Given the description of an element on the screen output the (x, y) to click on. 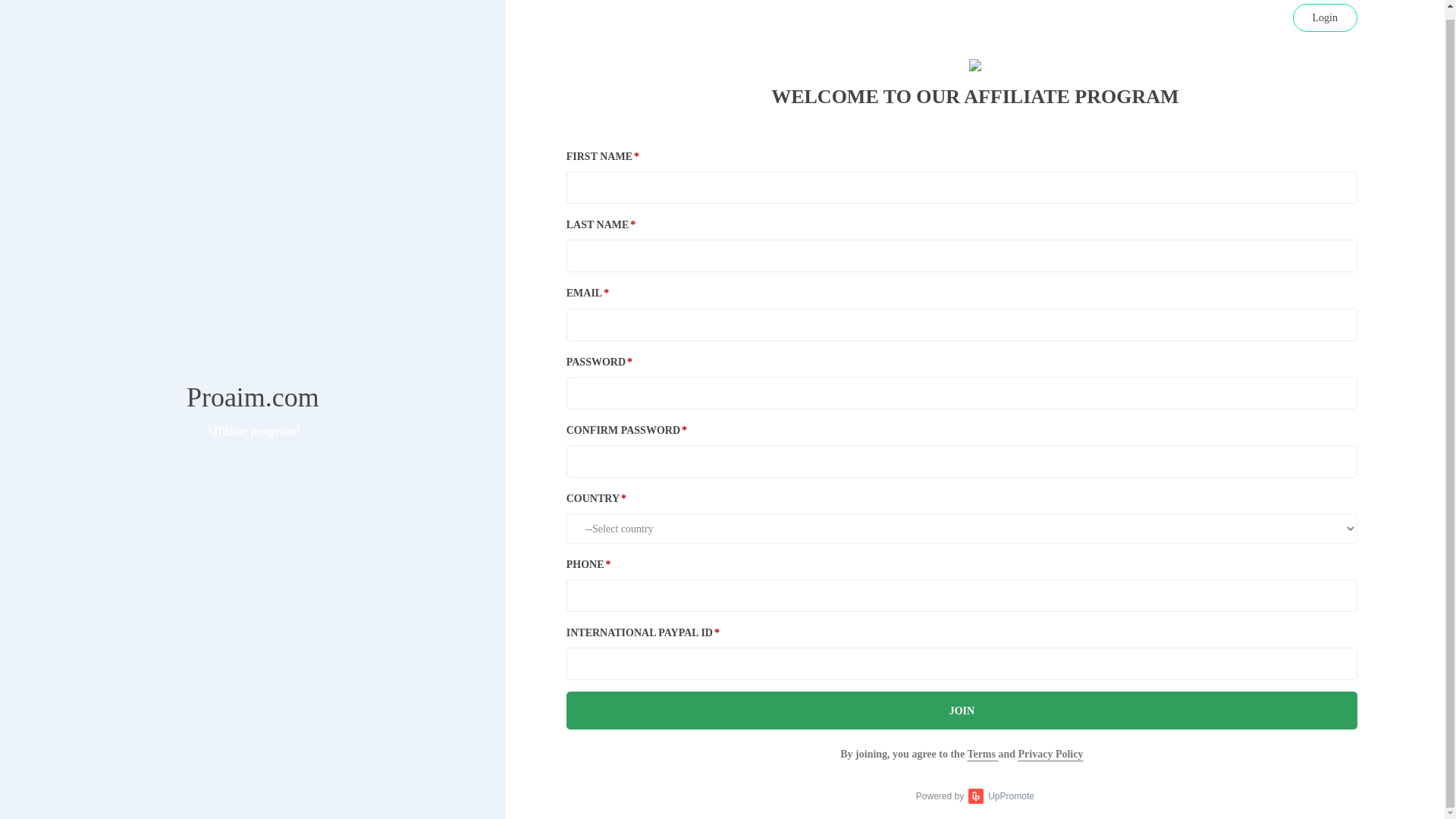
JOIN (961, 710)
Login (1324, 17)
Up Promote Affiliate Marketing (976, 795)
Login (1324, 15)
UpPromote (1000, 795)
Privacy Policy (1050, 754)
Terms (981, 754)
